Given the description of an element on the screen output the (x, y) to click on. 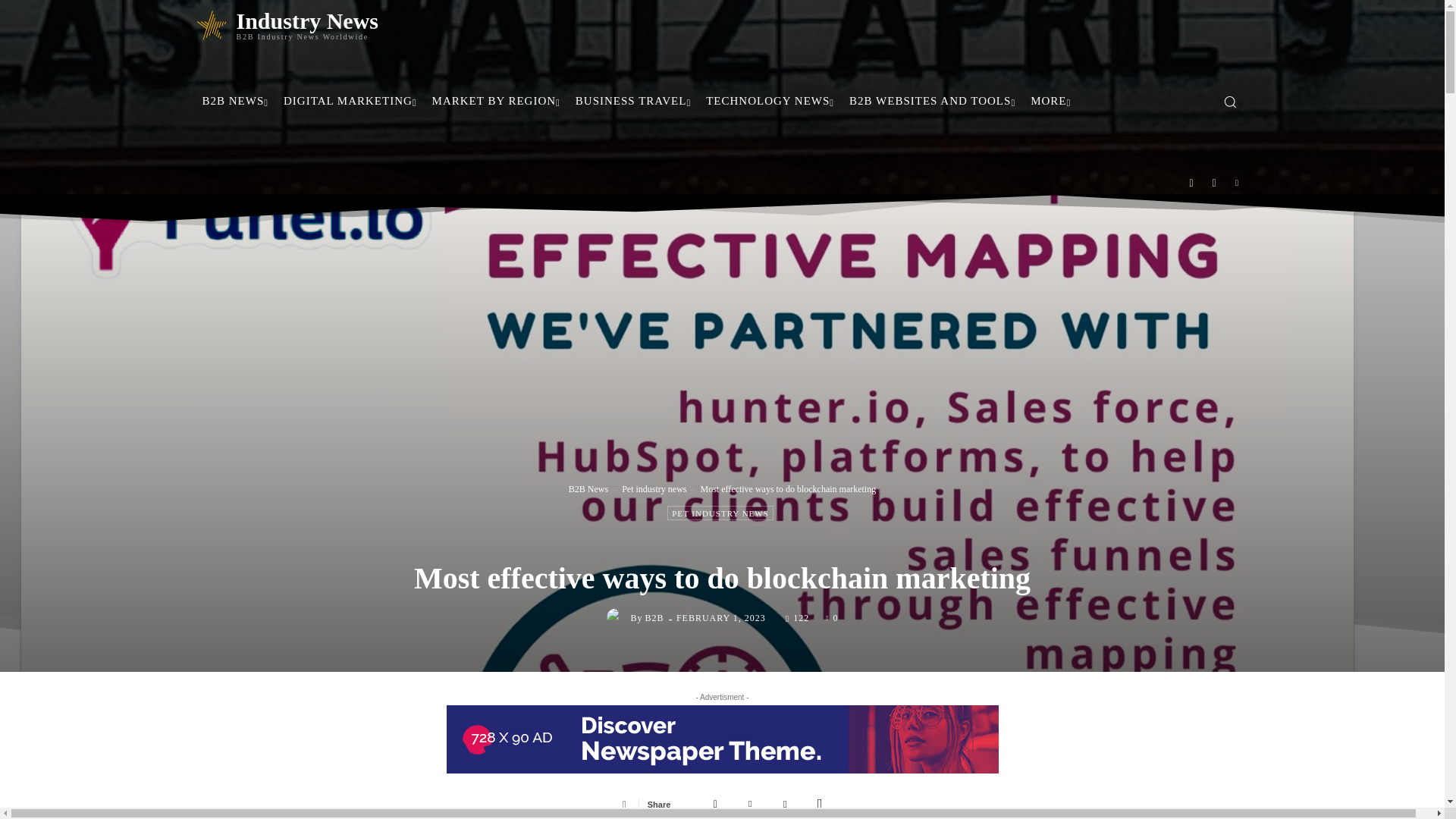
B2B NEWS (234, 100)
